Given the description of an element on the screen output the (x, y) to click on. 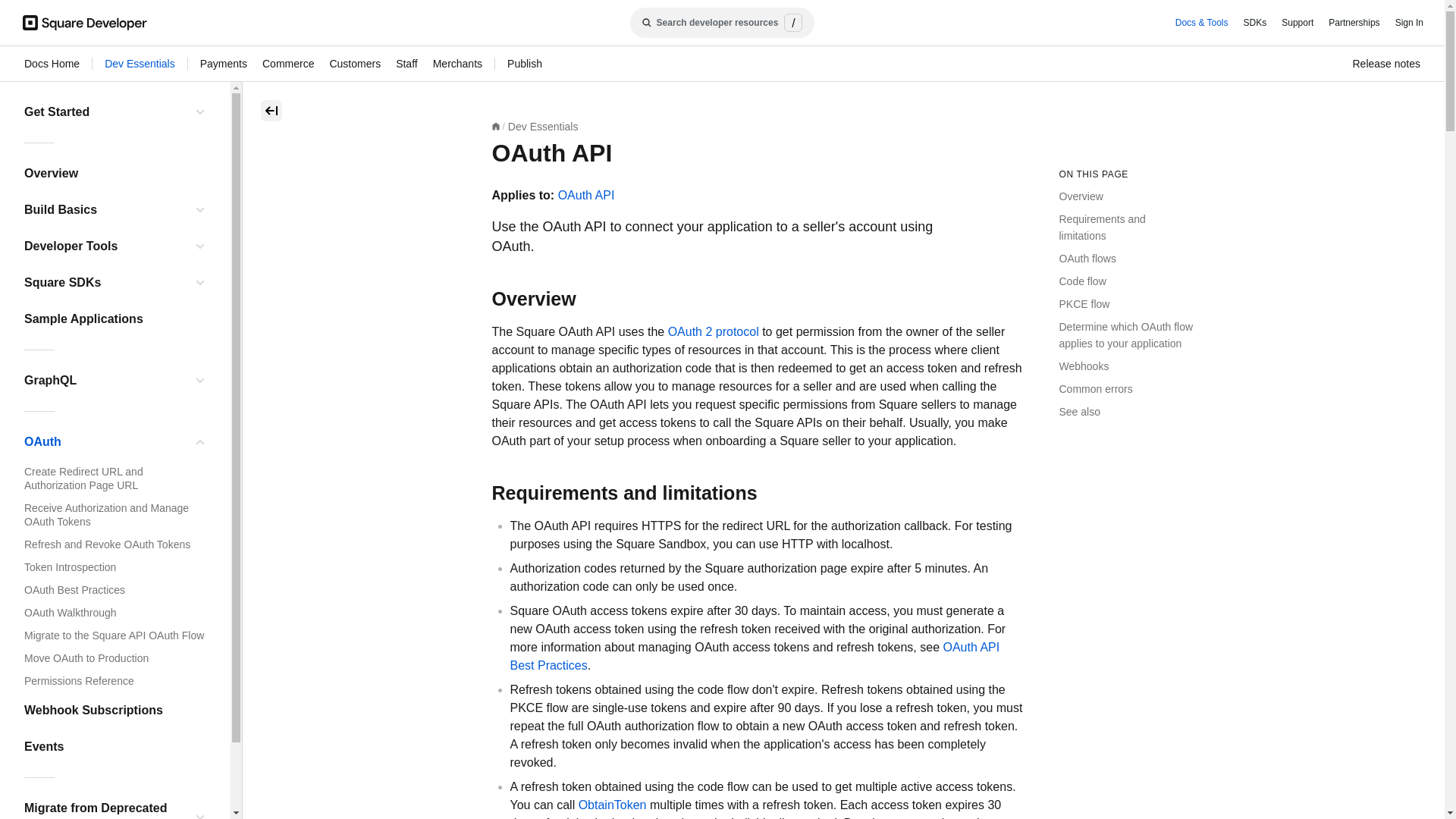
Staff (406, 63)
Sign In (1409, 22)
Partnerships (1353, 22)
Dev Essentials (139, 63)
SDKs (1255, 22)
Publish (523, 63)
Merchants (456, 63)
Docs Home (52, 63)
Commerce (288, 63)
Get Started (104, 112)
Support (1296, 22)
Payments (223, 63)
Release notes (1386, 63)
Customers (354, 63)
